Given the description of an element on the screen output the (x, y) to click on. 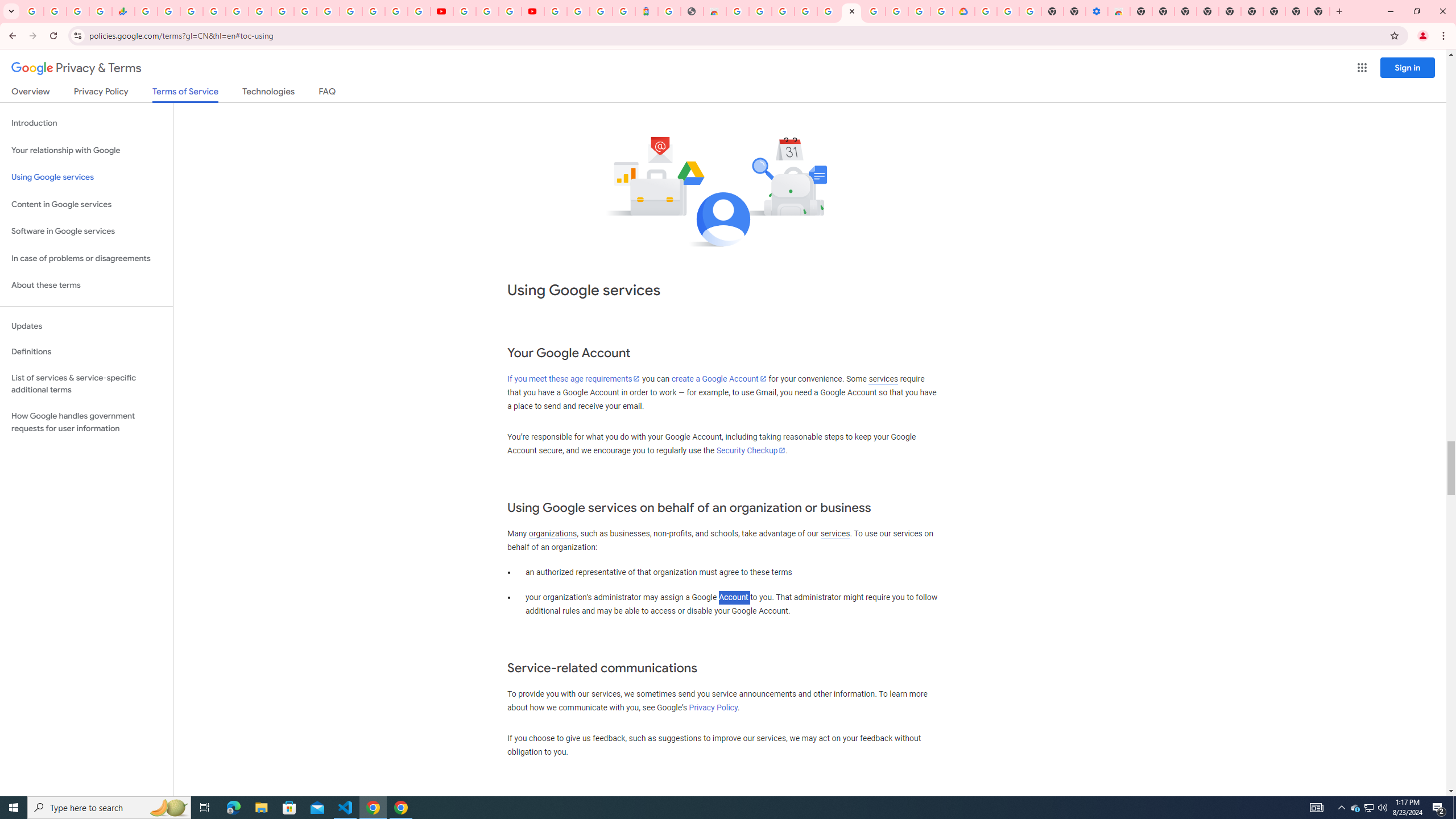
List of services & service-specific additional terms (86, 383)
Browse the Google Chrome Community - Google Chrome Community (942, 11)
Content in Google services (86, 204)
YouTube (304, 11)
Google Workspace Admin Community (32, 11)
In case of problems or disagreements (86, 258)
Google Account Help (874, 11)
Sign in - Google Accounts (328, 11)
Android TV Policies and Guidelines - Transparency Center (282, 11)
